Given the description of an element on the screen output the (x, y) to click on. 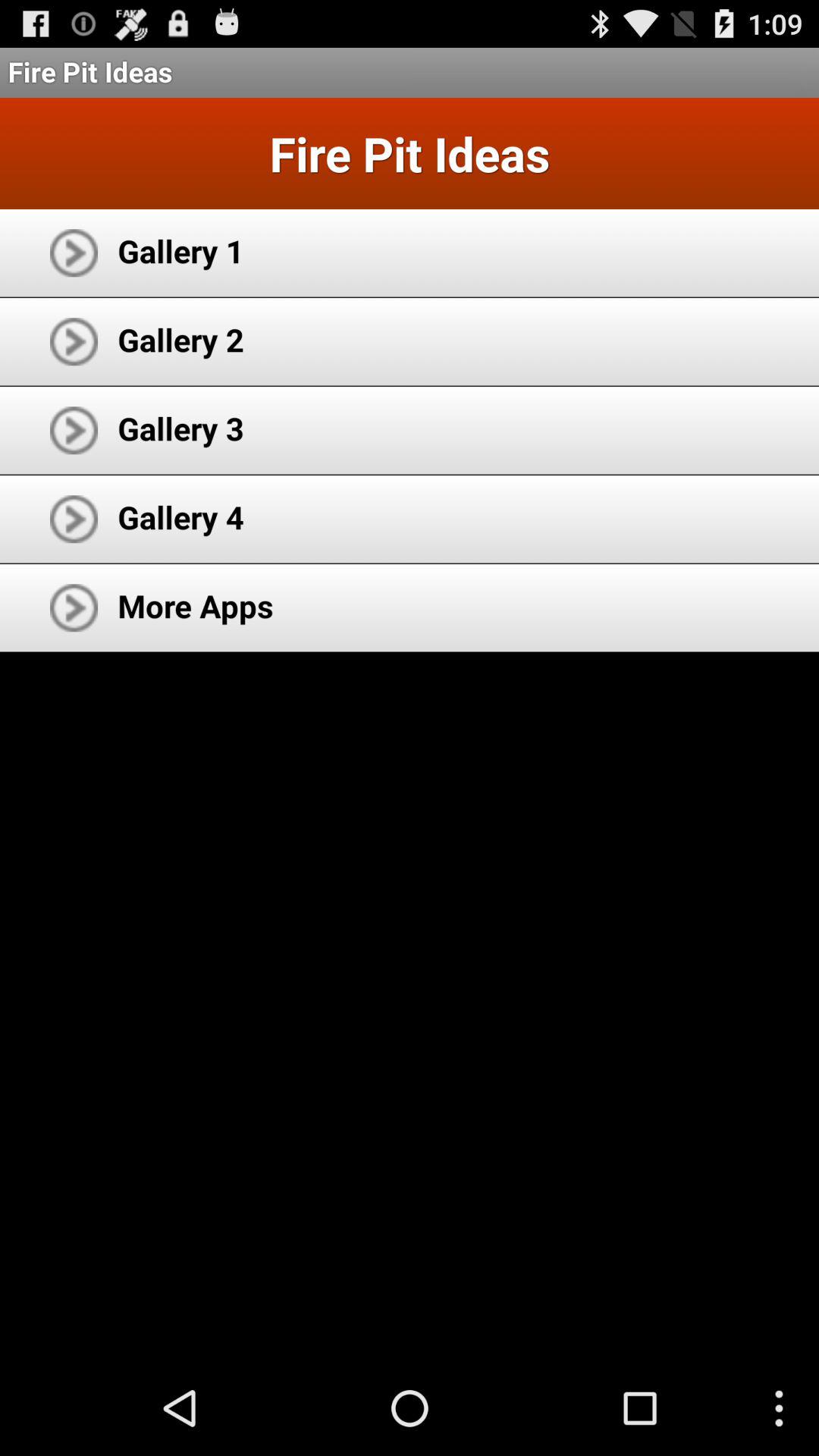
turn on item above gallery 2 app (180, 250)
